Given the description of an element on the screen output the (x, y) to click on. 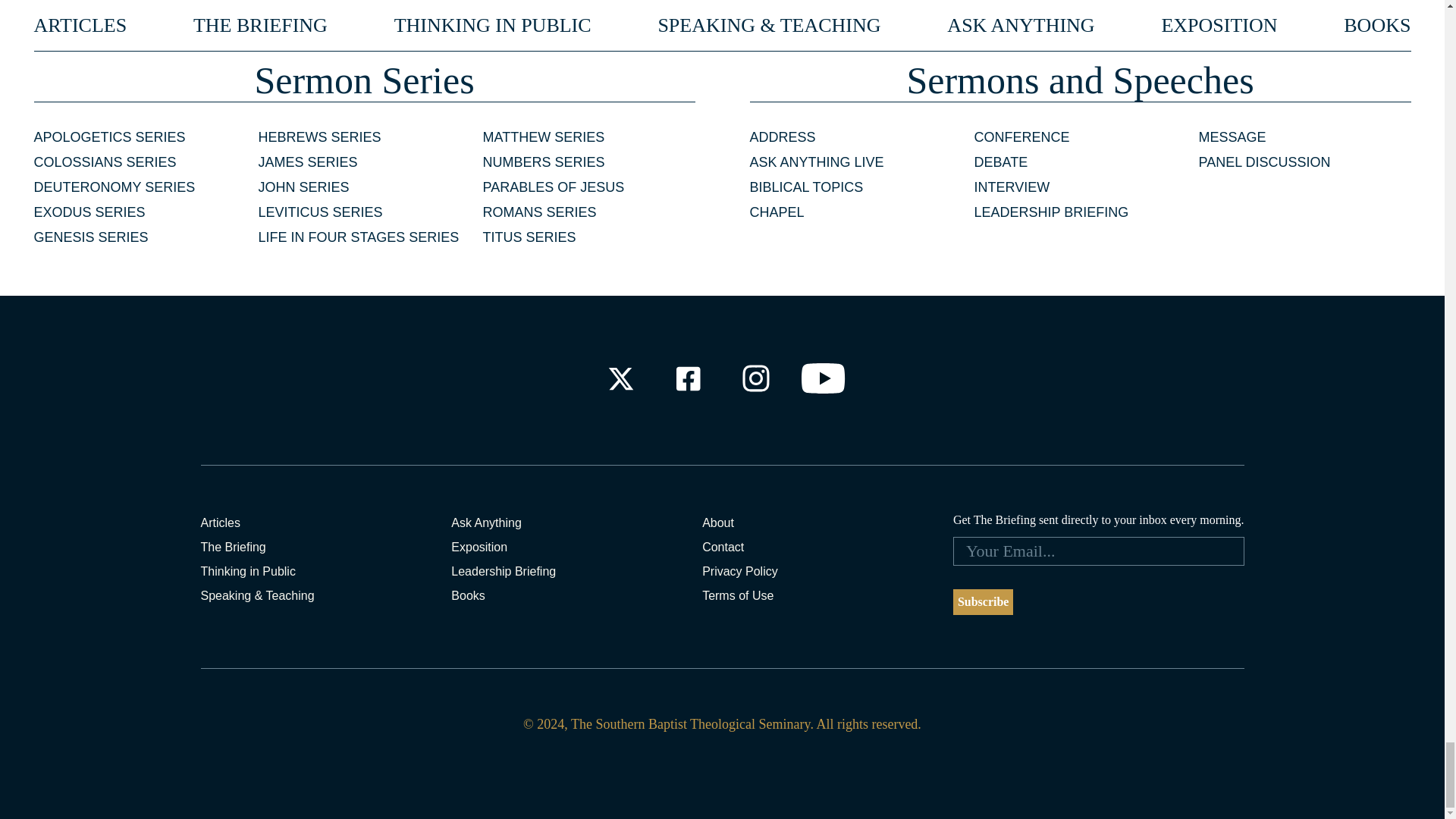
Check out our X Profile (620, 378)
Subscribe (983, 601)
Check out our Youtube Channel (822, 378)
Check out our Facebook Profile (687, 378)
Check out our Instagram Profile (755, 378)
